Given the description of an element on the screen output the (x, y) to click on. 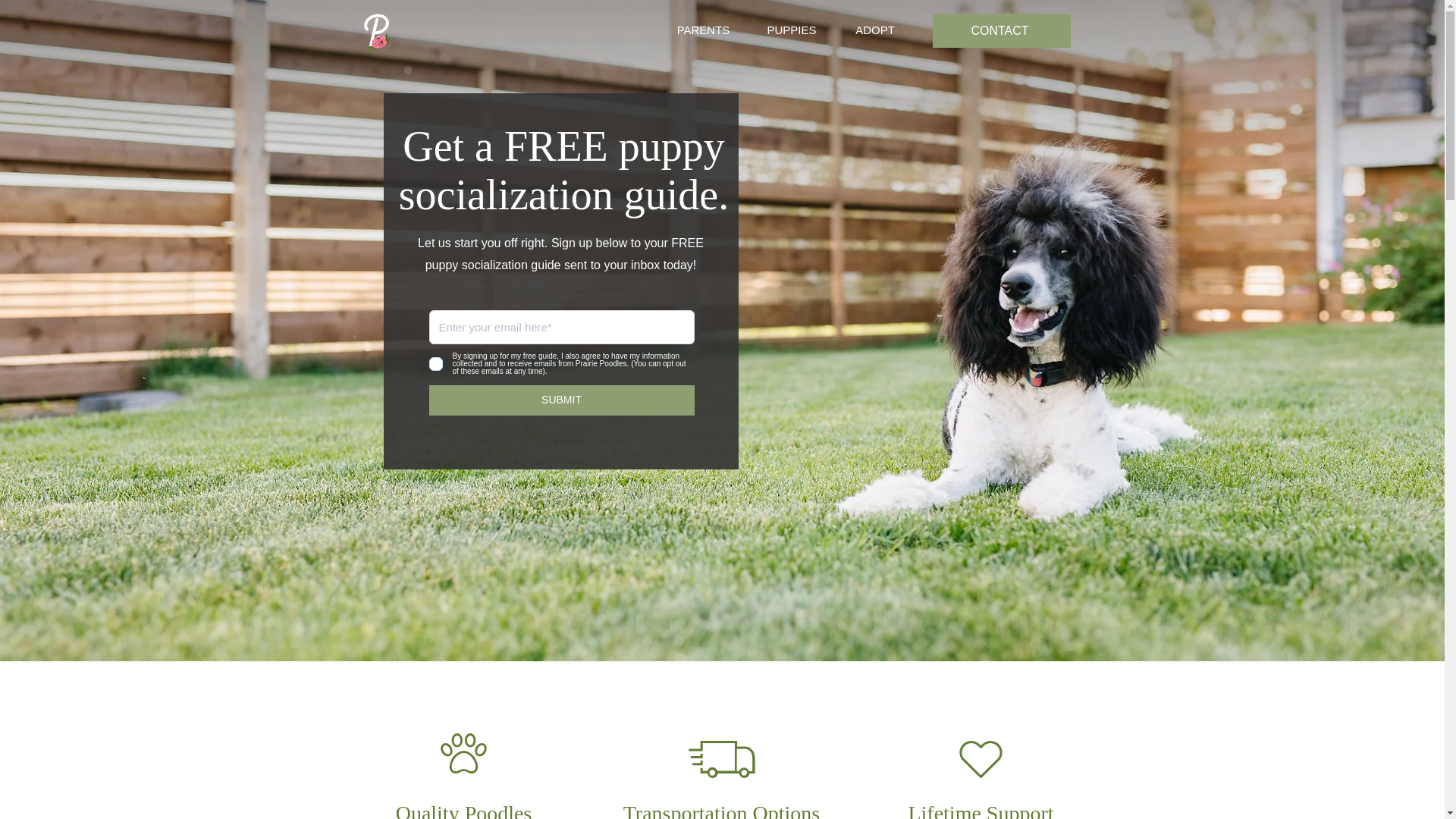
PUPPIES (791, 30)
SUBMIT (561, 399)
ADOPT (874, 30)
CONTACT (1001, 30)
PARENTS (703, 30)
